Given the description of an element on the screen output the (x, y) to click on. 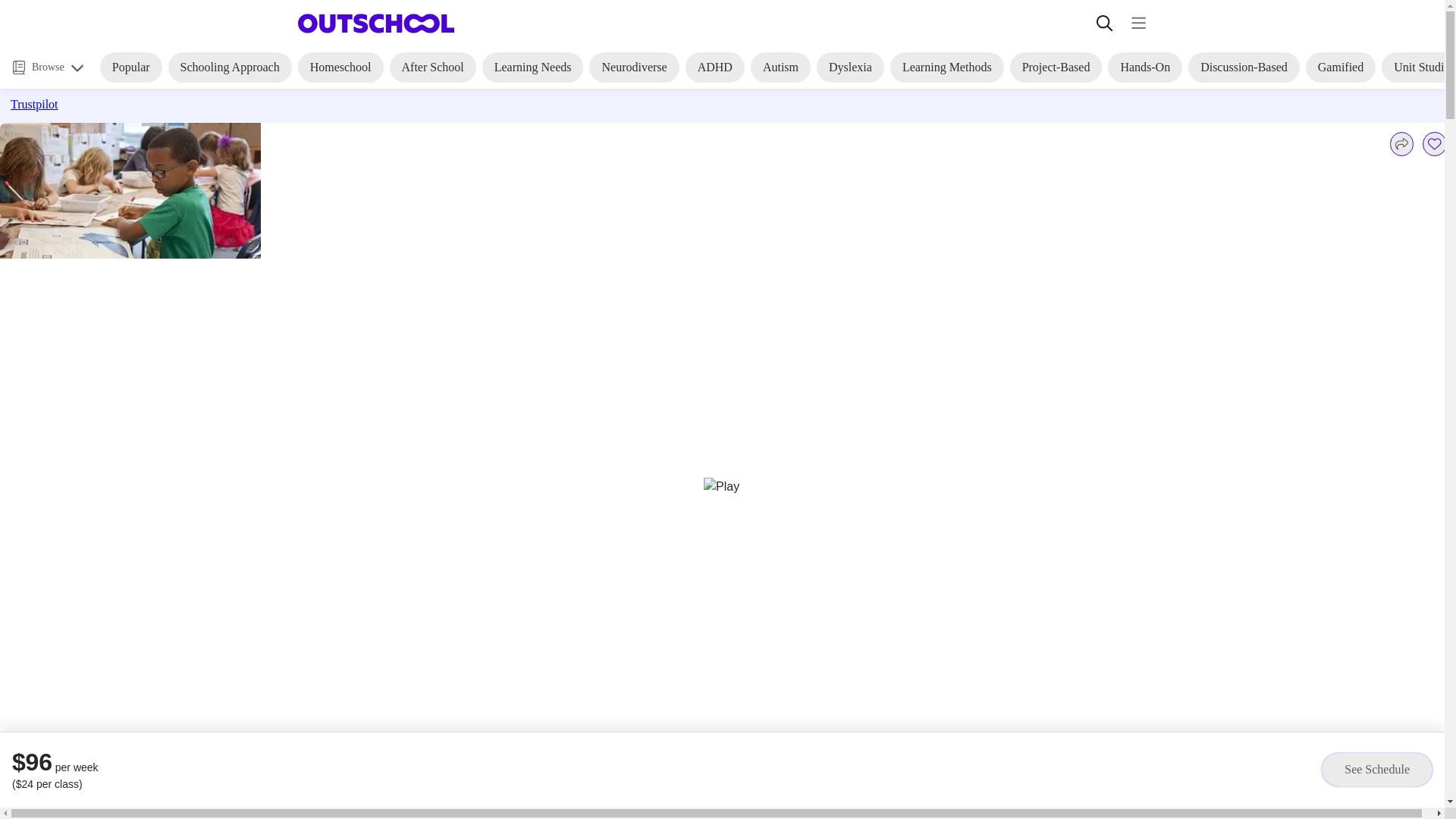
ADHD (714, 67)
Gamified (1340, 67)
Browse (48, 66)
Trustpilot reviews (169, 106)
Discussion-Based (1244, 67)
After School (433, 67)
Learning Needs (532, 67)
Autism (780, 67)
Learning Methods (946, 67)
Homeschool (341, 67)
